Given the description of an element on the screen output the (x, y) to click on. 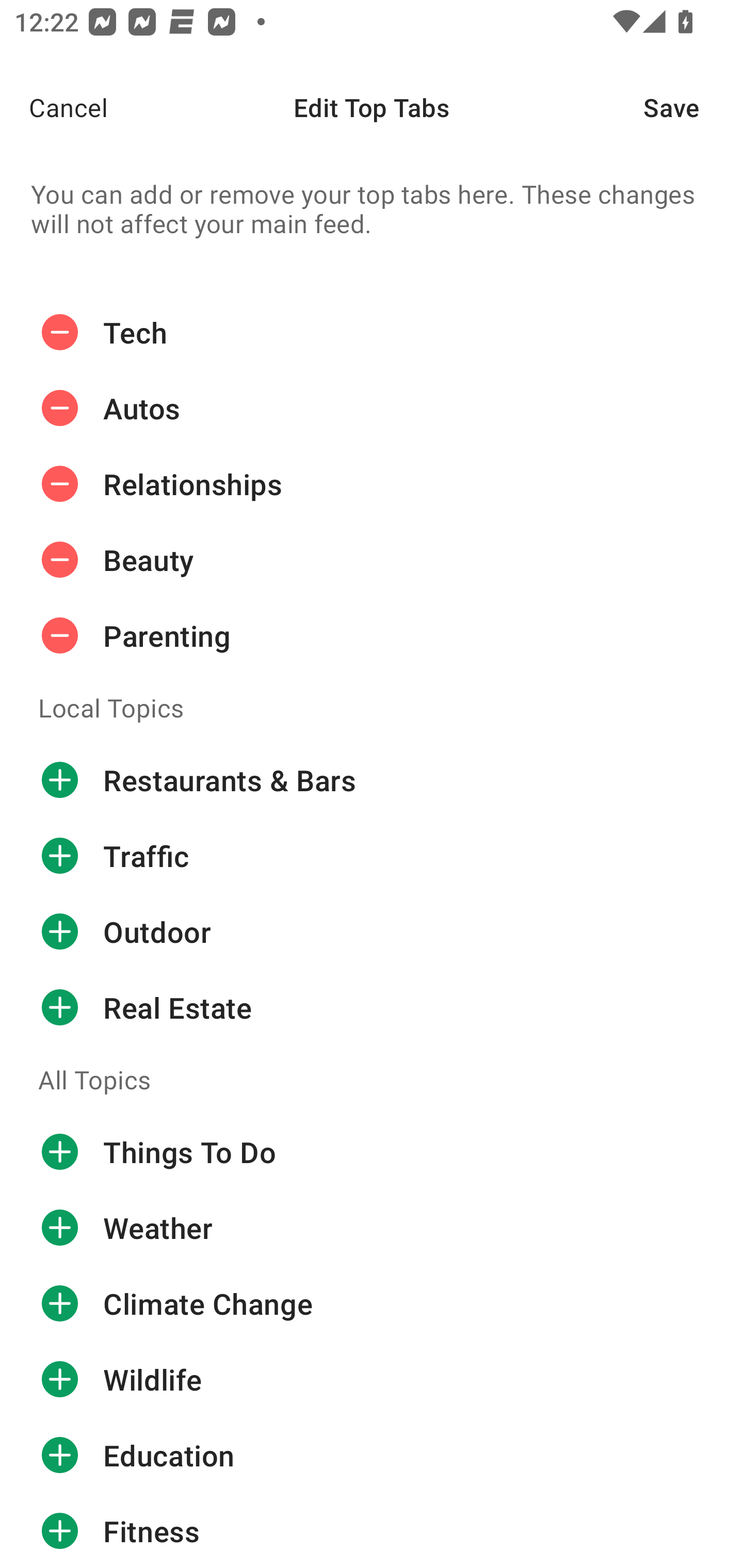
Cancel (53, 106)
Save (693, 106)
Tech (371, 332)
Autos (371, 408)
Relationships (371, 484)
Beauty (371, 559)
Parenting (371, 635)
Restaurants & Bars (371, 779)
Traffic (371, 855)
Outdoor (371, 931)
Real Estate (371, 1007)
Things To Do (371, 1152)
Weather (371, 1227)
Climate Change (371, 1303)
Wildlife (371, 1379)
Education (371, 1454)
Fitness (371, 1530)
